Given the description of an element on the screen output the (x, y) to click on. 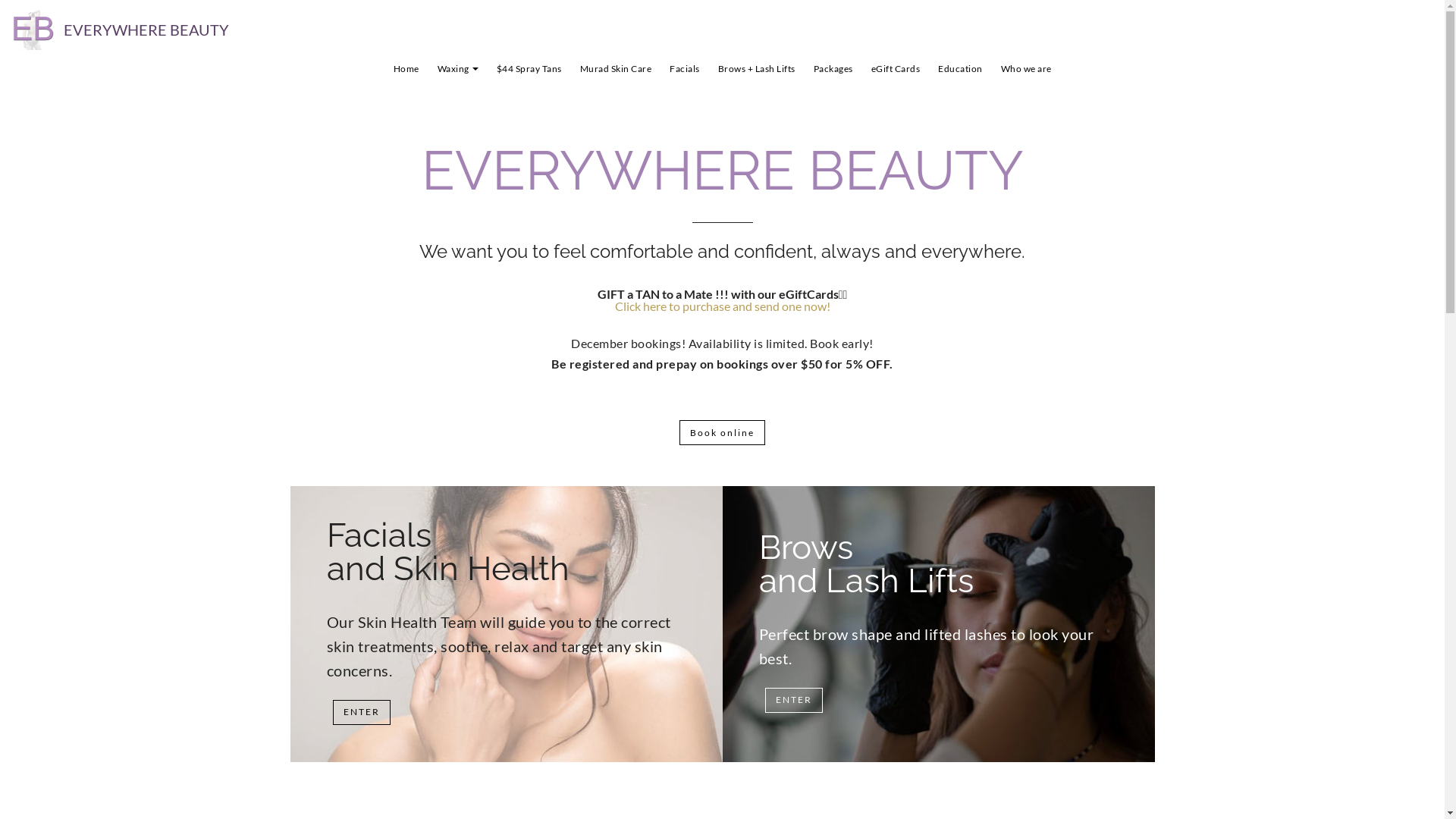
EVERYWHERE BEAUTY Element type: text (146, 29)
Click here to purchase and send one now! Element type: text (721, 305)
Home Element type: text (405, 68)
Packages Element type: text (832, 68)
Murad Skin Care Element type: text (615, 68)
Facials Element type: text (684, 68)
Who we are Element type: text (1026, 68)
Book online Element type: text (722, 432)
Education Element type: text (960, 68)
$44 Spray Tans Element type: text (528, 68)
ENTER Element type: text (793, 699)
eGift Cards Element type: text (894, 68)
Waxing Element type: text (456, 68)
Brows + Lash Lifts Element type: text (755, 68)
ENTER Element type: text (361, 711)
